Given the description of an element on the screen output the (x, y) to click on. 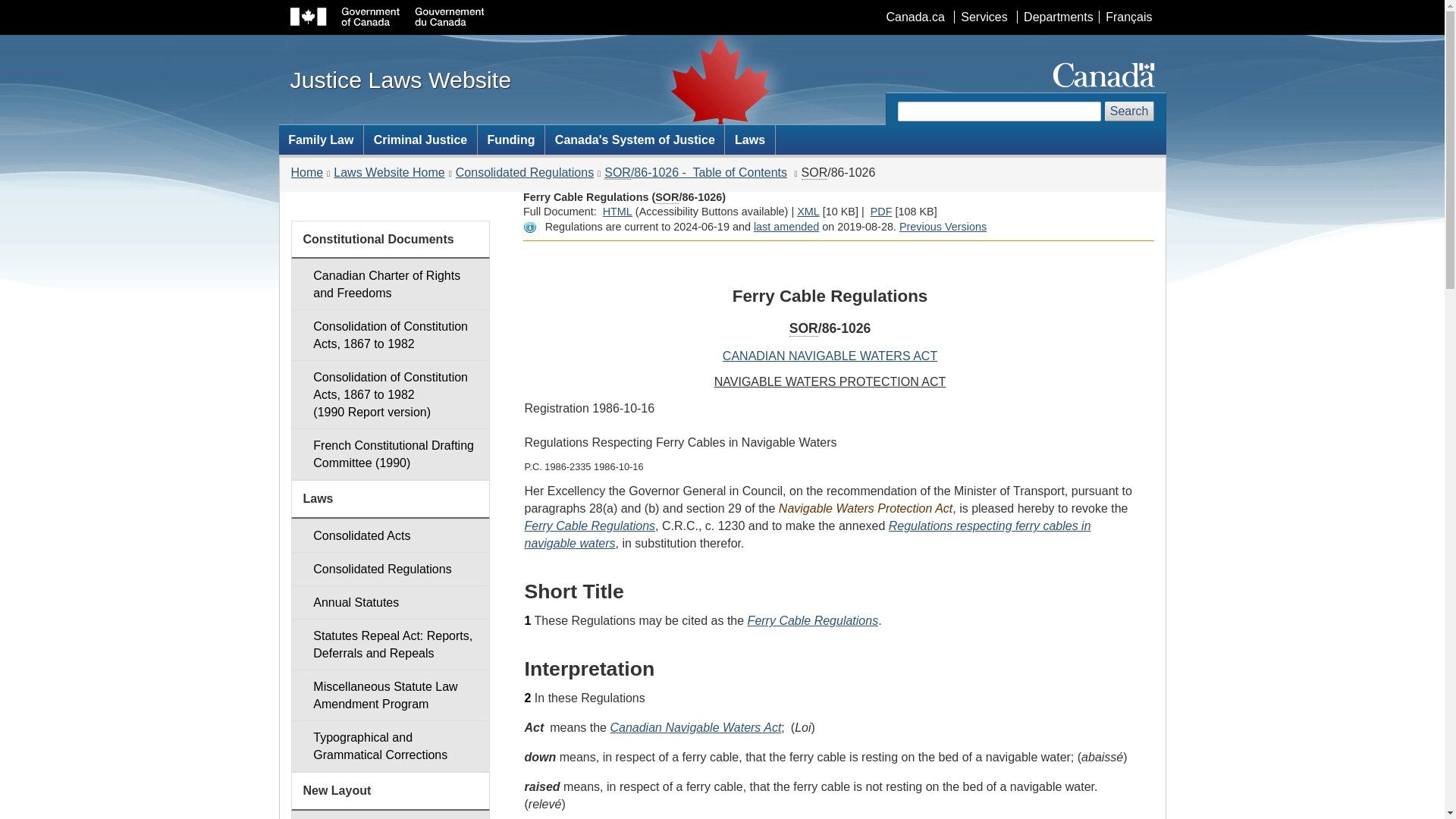
Statutory Orders and Regulations (803, 328)
Services (983, 16)
Family Law (321, 139)
Ferry Cable Regulations (813, 620)
Statutory Orders and Regulations (666, 196)
2 (527, 697)
Laws Website Home (388, 172)
Canadian Navigable Waters Act (695, 727)
Consolidated Regulations and Orders (390, 569)
Ferry Cable Regulations (590, 525)
Consolidated Regulations (524, 172)
Justice Laws Website (400, 79)
Home (307, 172)
Search (1129, 111)
CANADIAN NAVIGABLE WATERS ACT (829, 355)
